Given the description of an element on the screen output the (x, y) to click on. 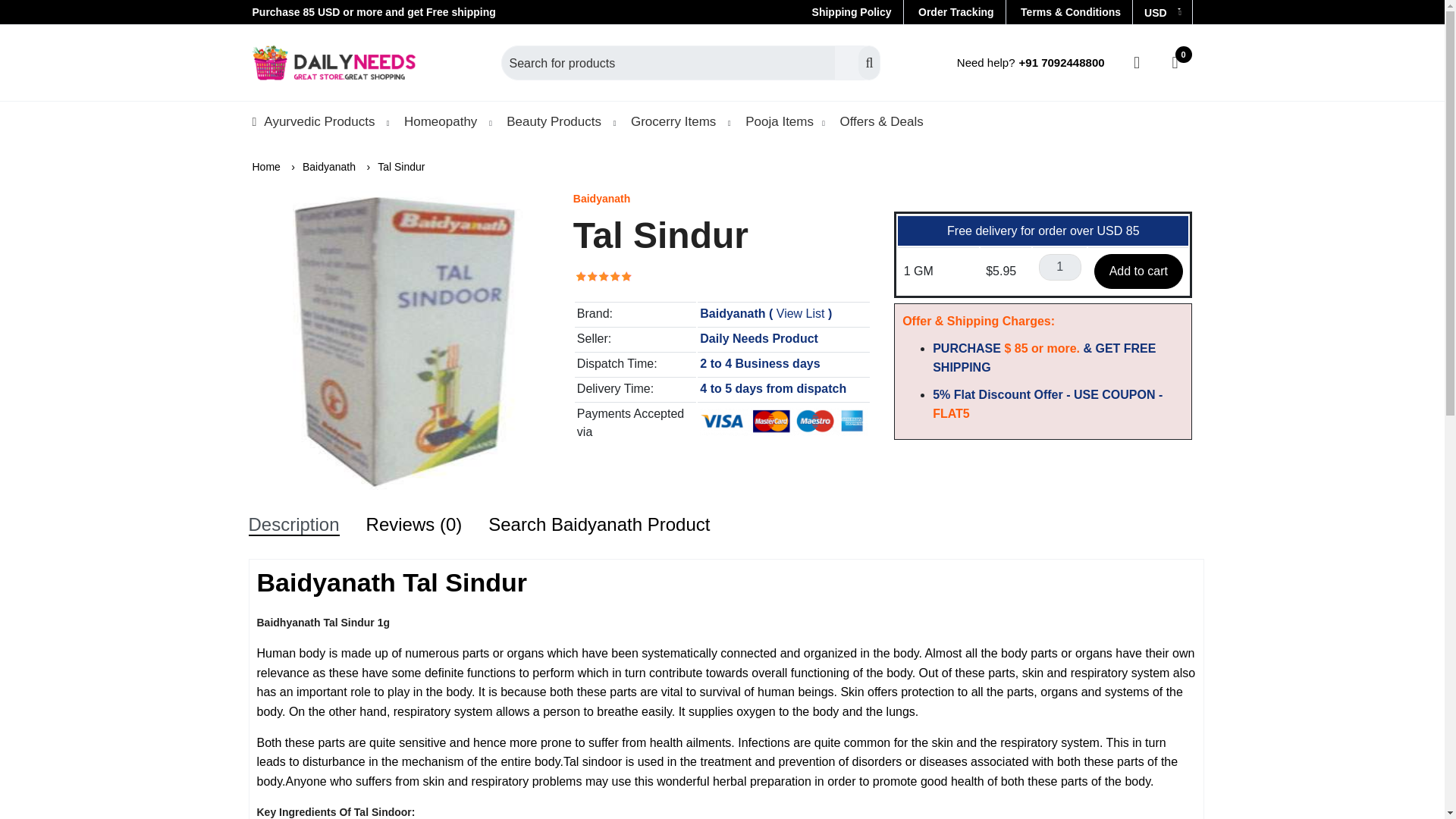
Order Tracking (956, 11)
Ayurvedic Products (318, 121)
USD (1162, 12)
0 (1174, 62)
Shipping Policy (857, 11)
1 (1060, 266)
